Given the description of an element on the screen output the (x, y) to click on. 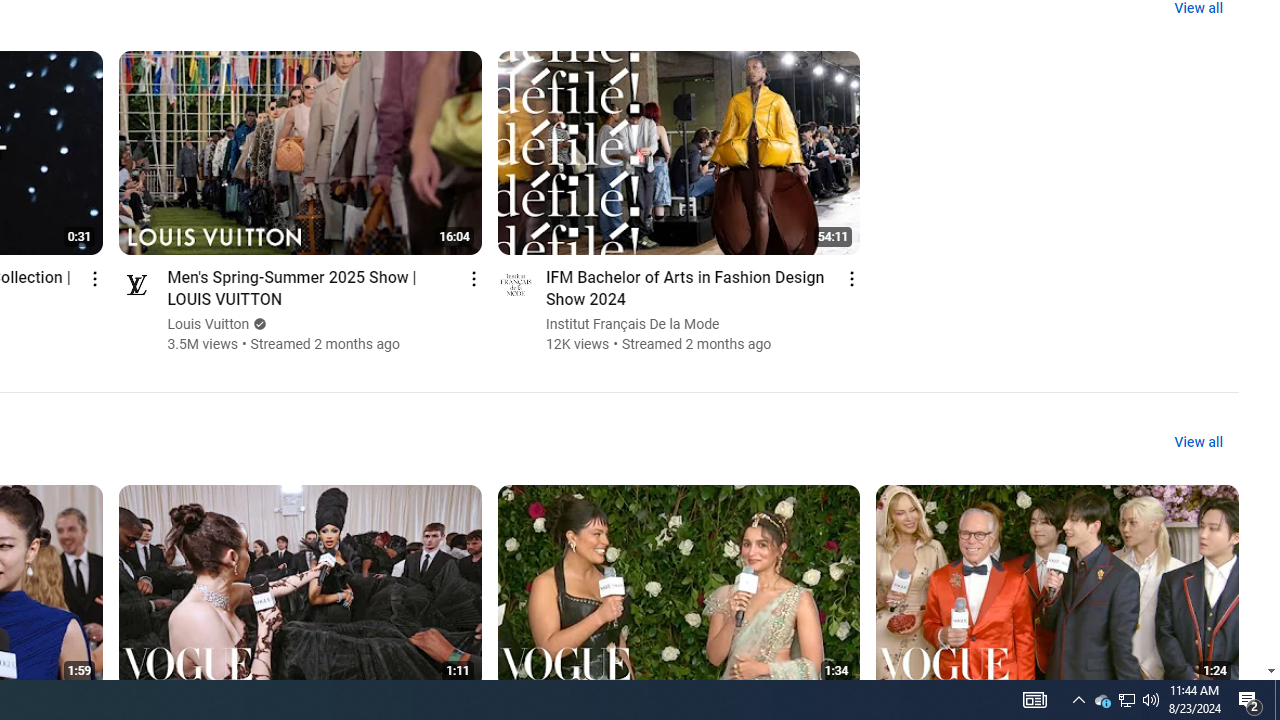
Action menu (852, 277)
Go to channel (514, 284)
Verified (258, 323)
Louis Vuitton (208, 323)
View all (1198, 442)
